Given the description of an element on the screen output the (x, y) to click on. 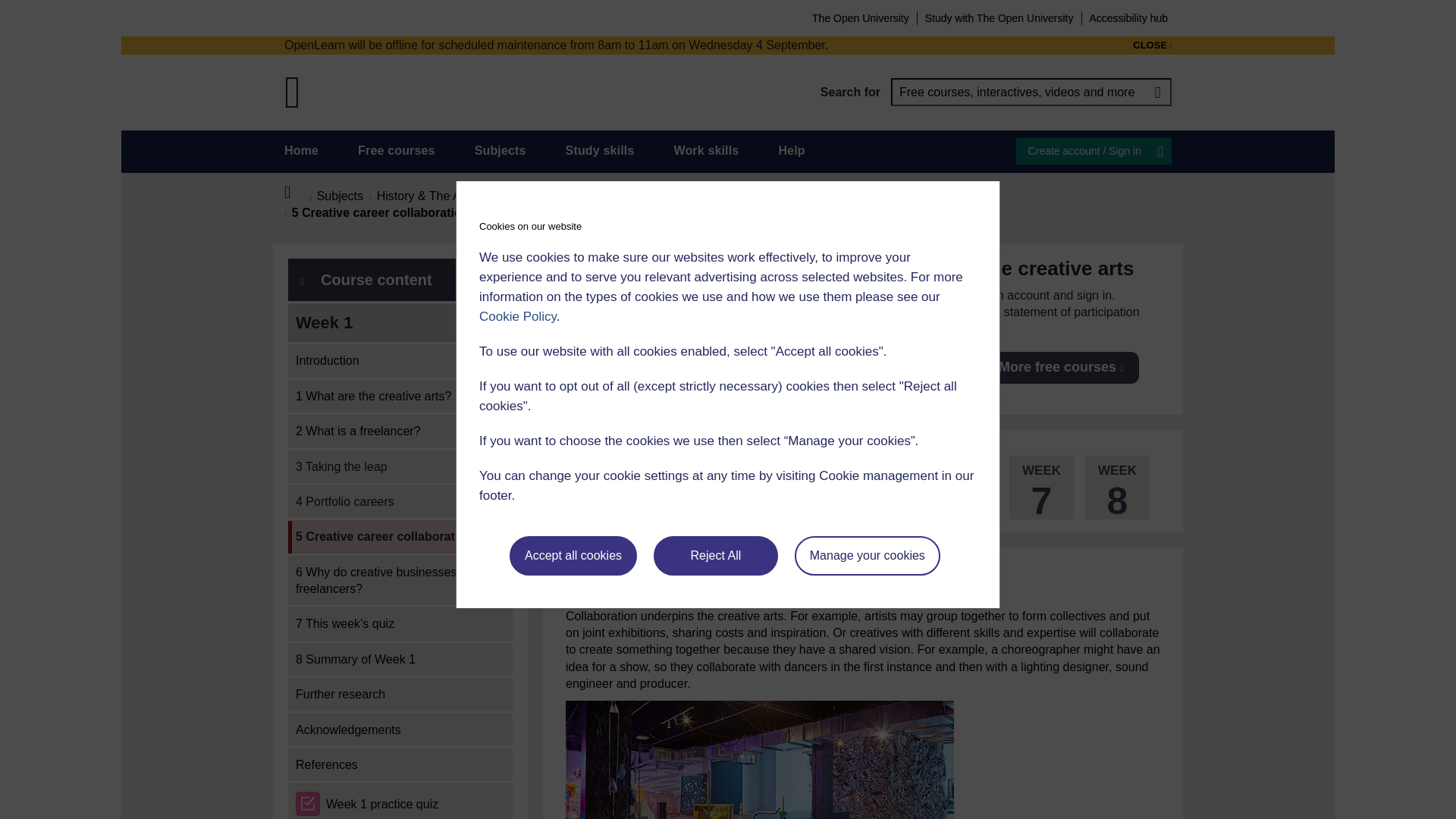
CLOSE (1152, 45)
Search (1157, 91)
Reject All (715, 555)
Manage your cookies (867, 555)
The Open University (860, 17)
Accept all cookies (573, 555)
Work skills (705, 150)
Help (791, 150)
Home (300, 150)
Subjects (499, 150)
